Given the description of an element on the screen output the (x, y) to click on. 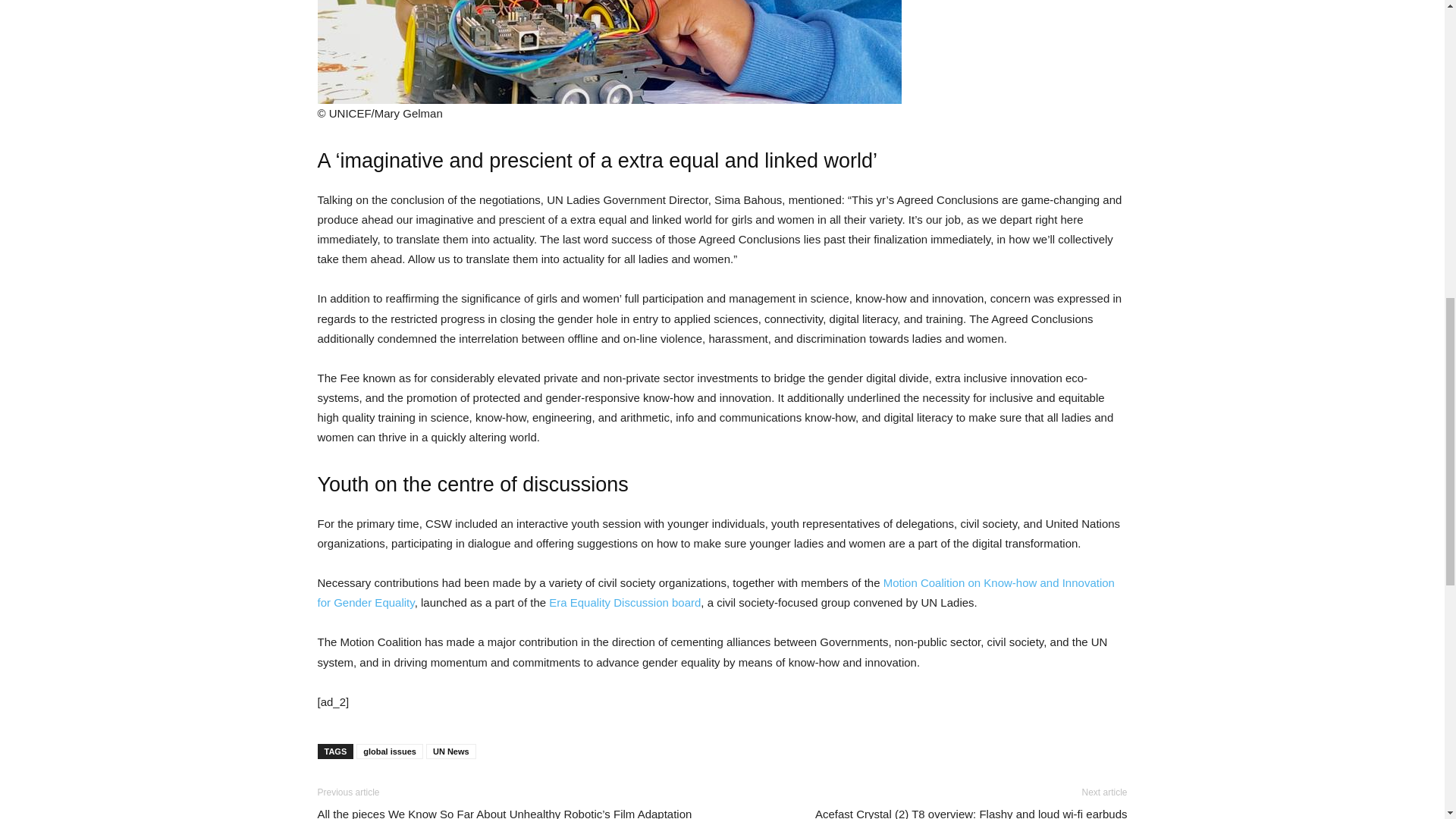
A Brazilian scientist working on a robot in Rio de Janeiro (609, 52)
UN News (451, 751)
Era Equality Discussion board (624, 602)
global issues (389, 751)
